Given the description of an element on the screen output the (x, y) to click on. 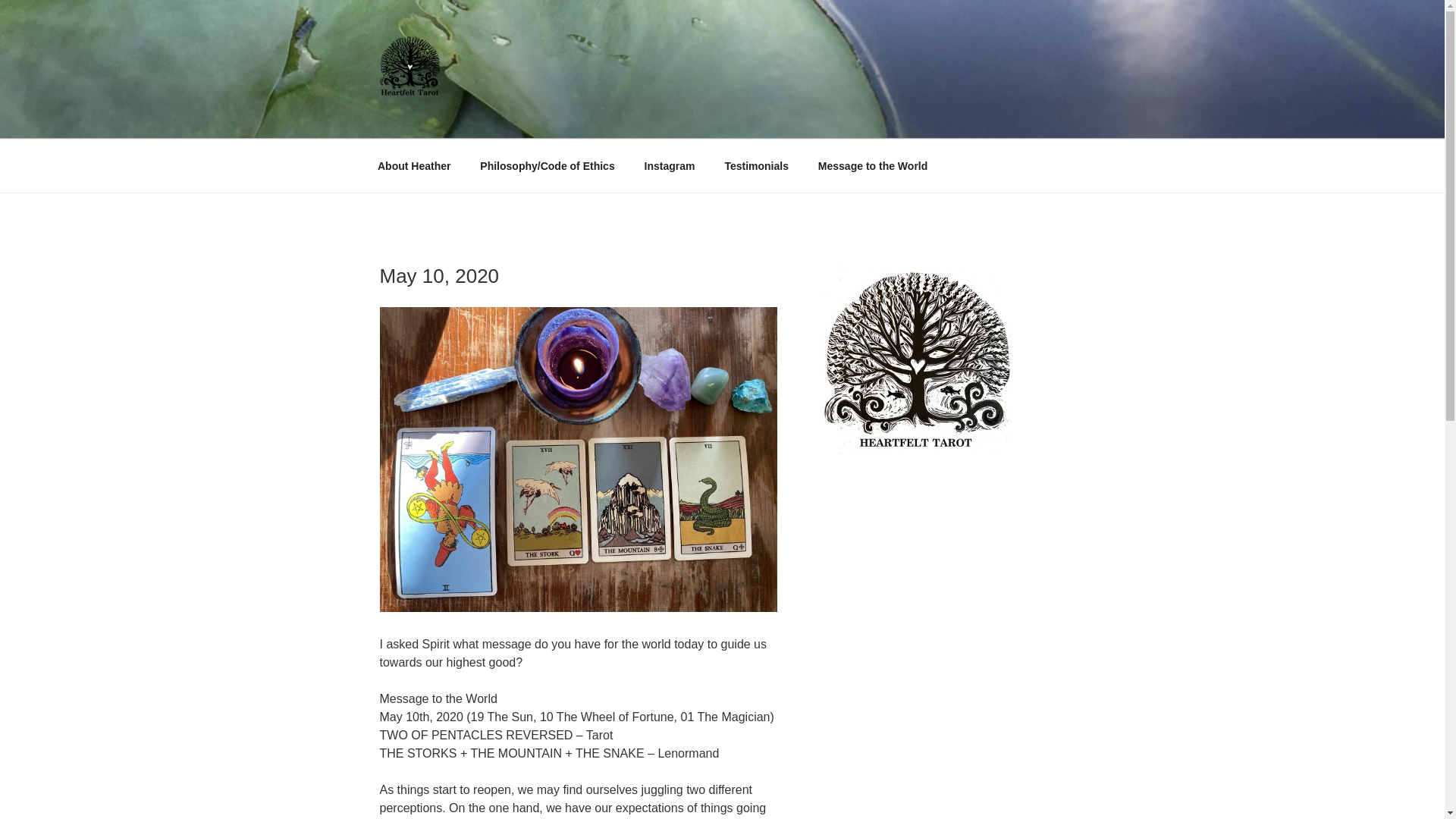
Message to the World (872, 165)
About Heather (413, 165)
HEARTFELT TAROT (524, 119)
Instagram (668, 165)
Testimonials (756, 165)
